Given the description of an element on the screen output the (x, y) to click on. 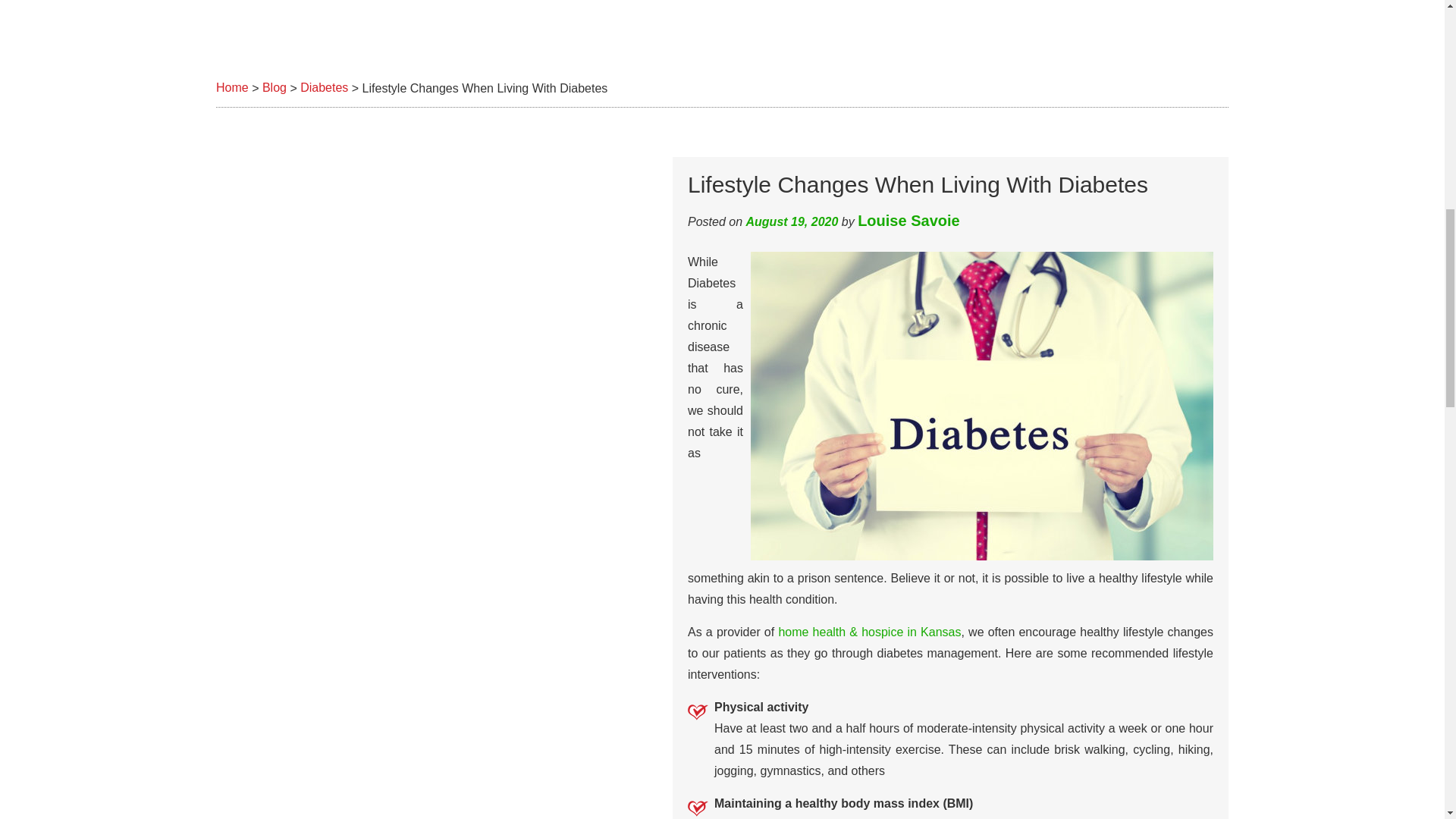
Go to Blog. (274, 88)
Go to Home. (231, 88)
Louise Savoie (908, 220)
Blog (274, 88)
Go to the Diabetes category archives. (323, 88)
View all posts by Louise Savoie (908, 220)
August 19, 2020 (791, 221)
Diabetes (323, 88)
Home (231, 88)
7:46 am (791, 221)
